Given the description of an element on the screen output the (x, y) to click on. 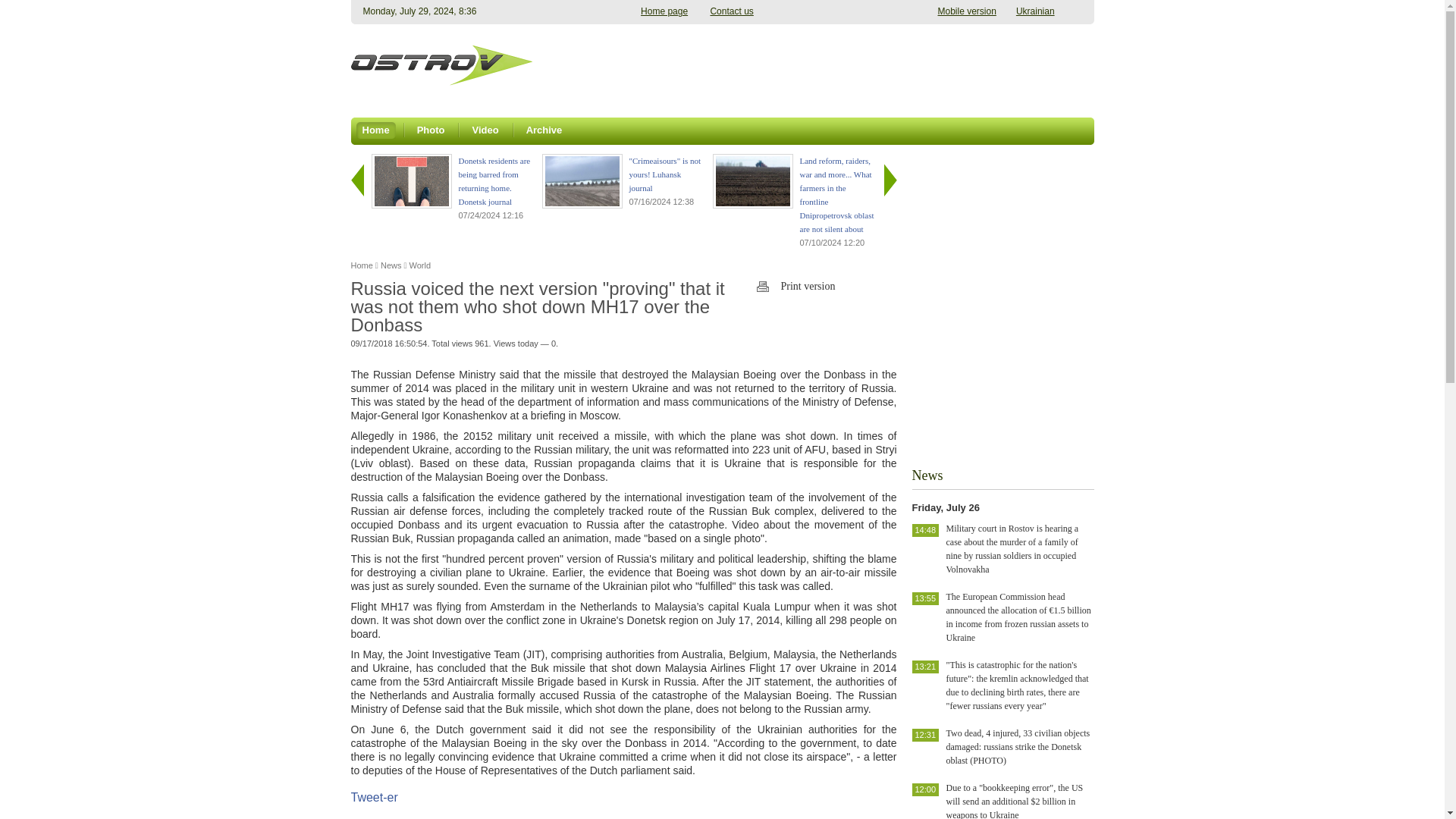
Home (361, 265)
Video (484, 127)
Contact us (731, 10)
Archive (544, 127)
World (419, 265)
World (419, 265)
Home (361, 265)
News (390, 265)
Photo (430, 127)
Mobile version (966, 10)
News (390, 265)
Home page (663, 10)
Advertisement (816, 65)
